Given the description of an element on the screen output the (x, y) to click on. 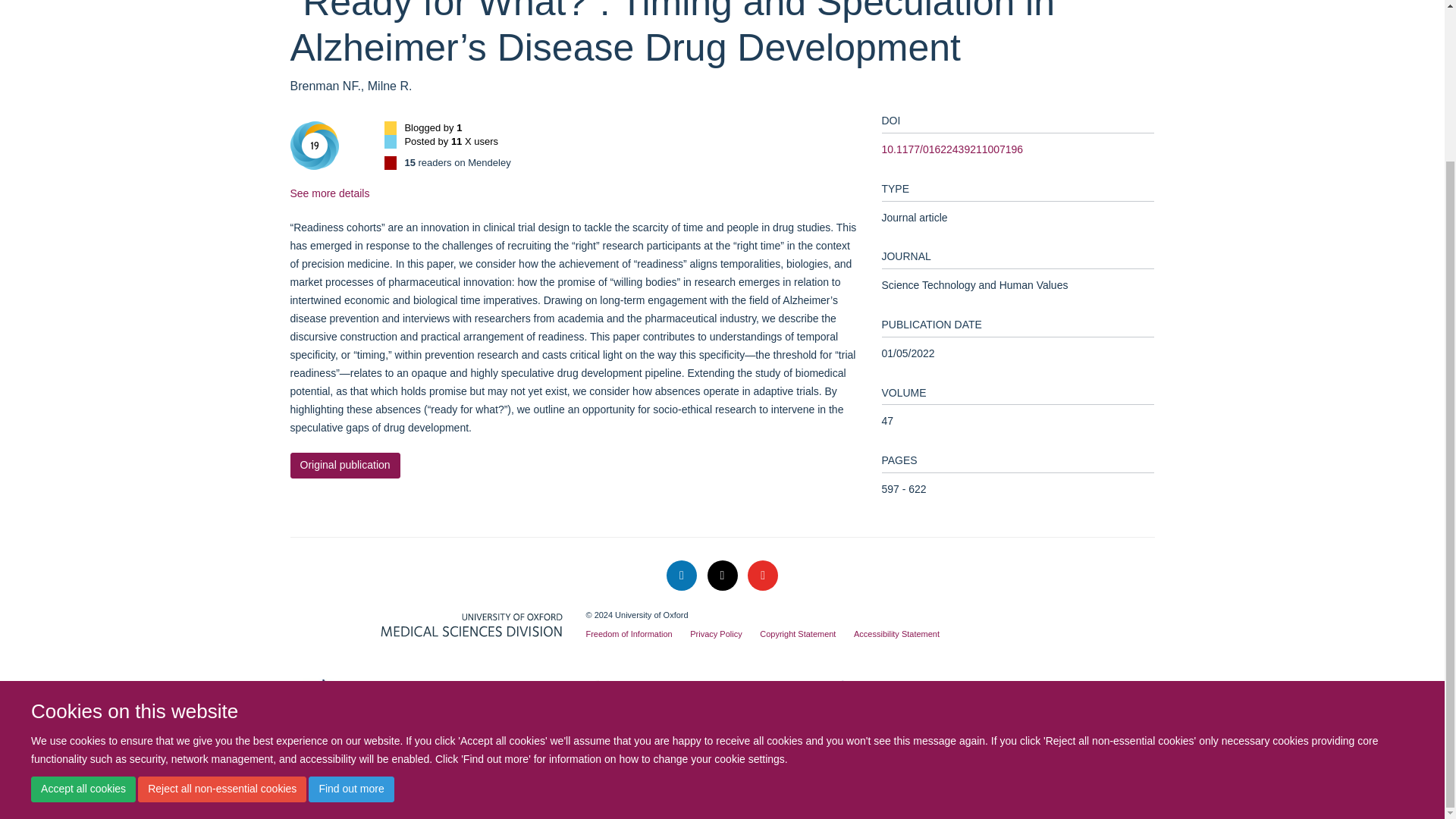
Reject all non-essential cookies (221, 598)
Find out more (350, 598)
Accept all cookies (82, 598)
